Given the description of an element on the screen output the (x, y) to click on. 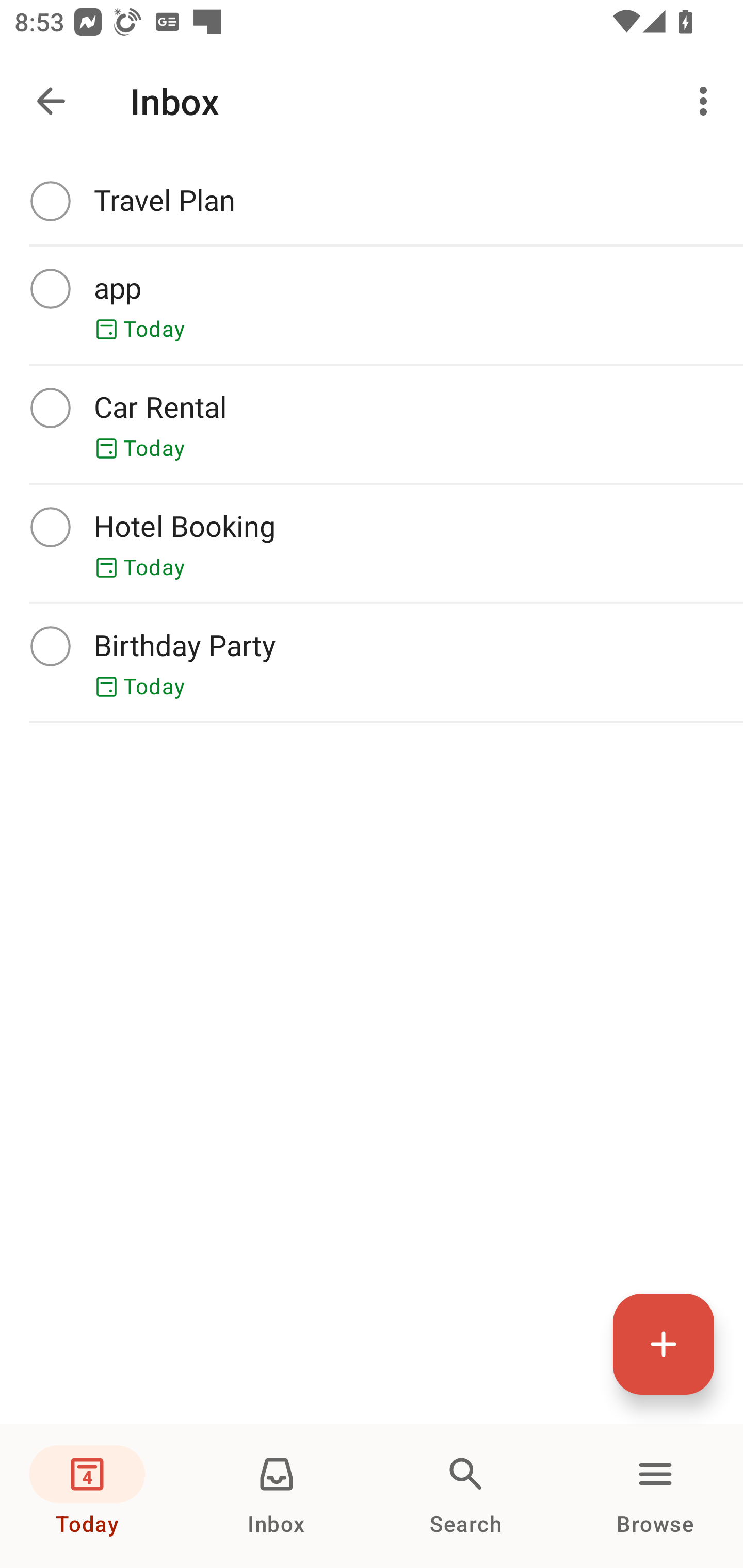
Navigate up Inbox More options (371, 100)
Navigate up (50, 101)
More options (706, 101)
Complete Travel Plan (371, 201)
Complete (50, 200)
Complete app Today (371, 304)
Complete (50, 288)
Complete Car Rental Today (371, 423)
Complete (50, 407)
Complete Hotel Booking Today (371, 543)
Complete (50, 526)
Complete Birthday Party Today (371, 662)
Complete (50, 645)
Quick add (663, 1343)
Inbox (276, 1495)
Search (465, 1495)
Browse (655, 1495)
